Given the description of an element on the screen output the (x, y) to click on. 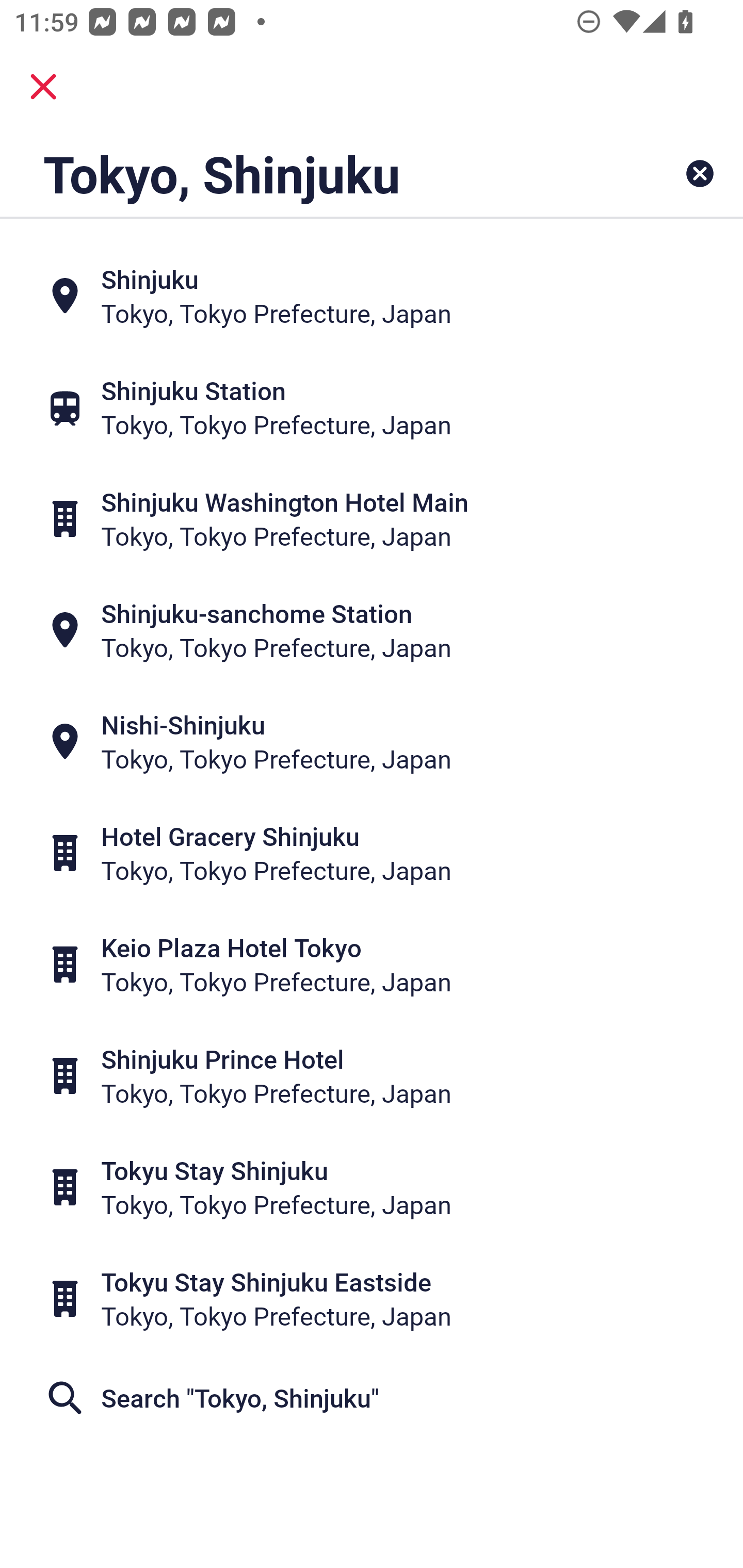
close. (43, 86)
Clear (699, 173)
Tokyo, Shinjuku (306, 173)
Shinjuku Tokyo, Tokyo Prefecture, Japan (371, 295)
Shinjuku Station Tokyo, Tokyo Prefecture, Japan (371, 406)
Nishi-Shinjuku Tokyo, Tokyo Prefecture, Japan (371, 742)
Tokyu Stay Shinjuku Tokyo, Tokyo Prefecture, Japan (371, 1187)
Search "Tokyo, Shinjuku" (371, 1397)
